Given the description of an element on the screen output the (x, y) to click on. 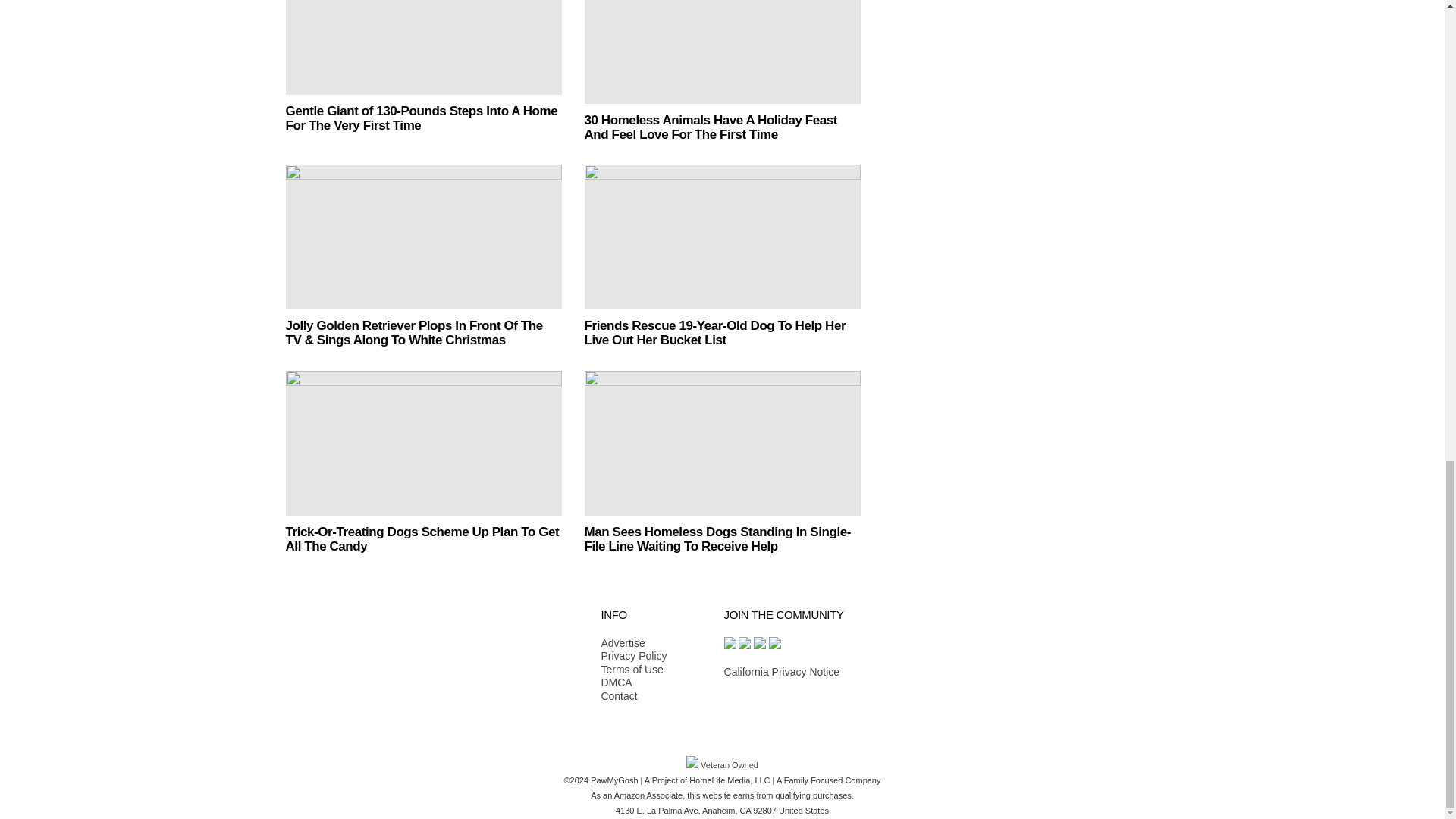
Privacy Policy (632, 656)
Trick-Or-Treating Dogs Scheme Up Plan To Get All The Candy (422, 443)
California Privacy Notice (781, 671)
DMCA (632, 683)
Terms of Use (632, 670)
